Given the description of an element on the screen output the (x, y) to click on. 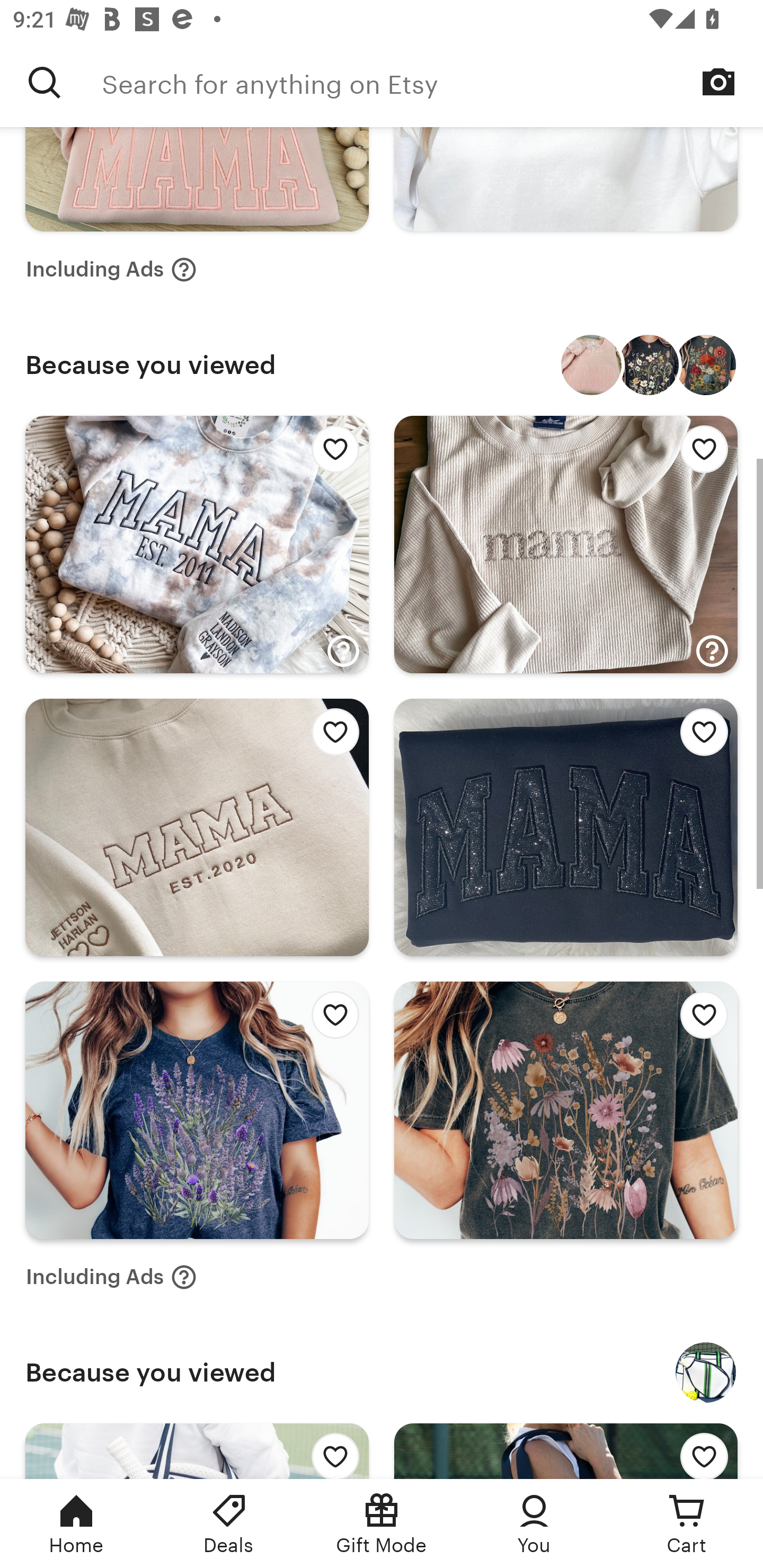
Search for anything on Etsy (44, 82)
Search by image (718, 81)
Search for anything on Etsy (432, 82)
Including Ads (111, 269)
Including Ads (111, 1276)
Deals (228, 1523)
Gift Mode (381, 1523)
You (533, 1523)
Cart (686, 1523)
